Given the description of an element on the screen output the (x, y) to click on. 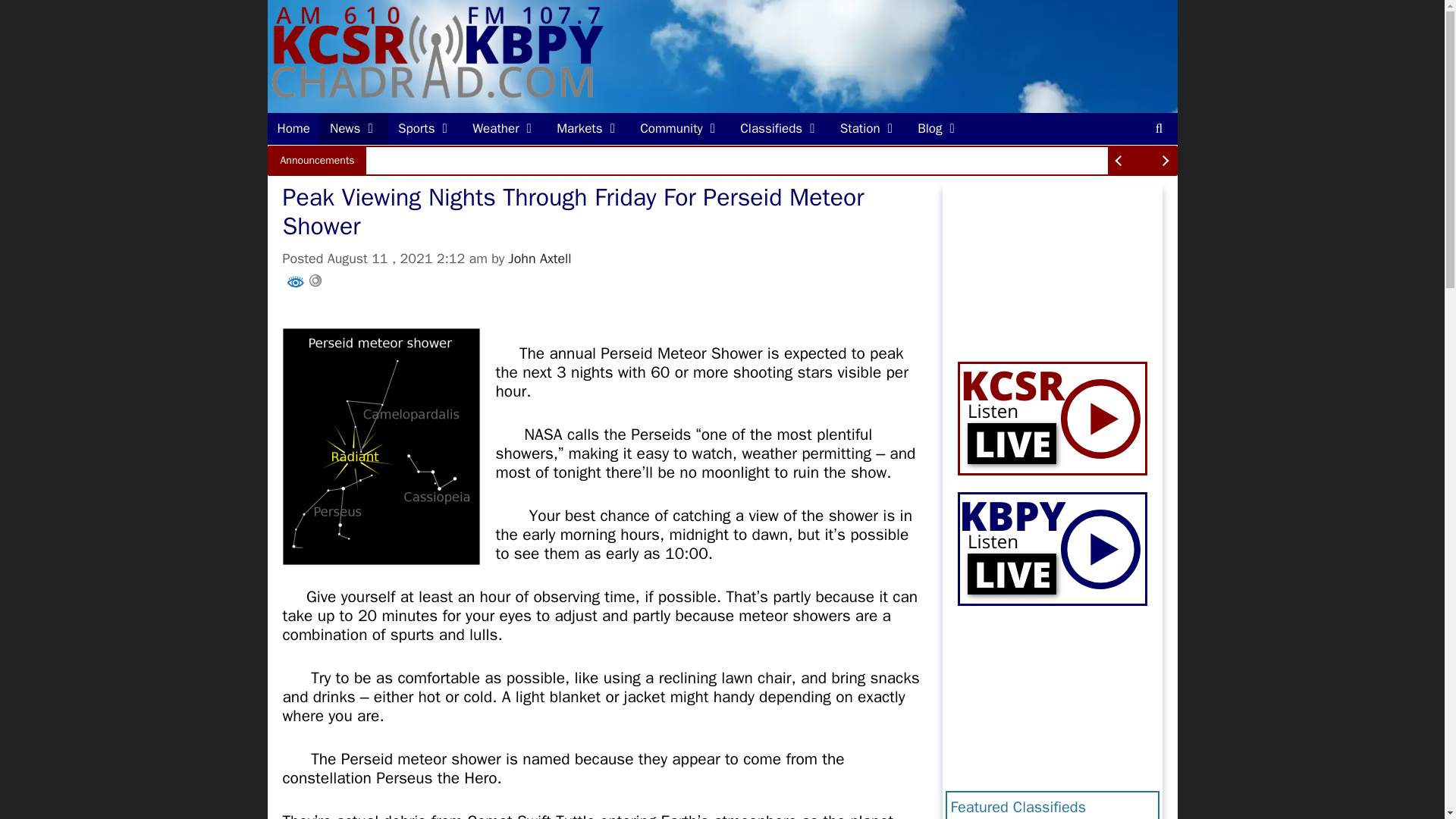
Classifieds (779, 128)
Weather (505, 128)
Markets (588, 128)
Home (292, 128)
Community (680, 128)
View all posts by John Axtell (540, 258)
News (354, 128)
Sports (425, 128)
